Given the description of an element on the screen output the (x, y) to click on. 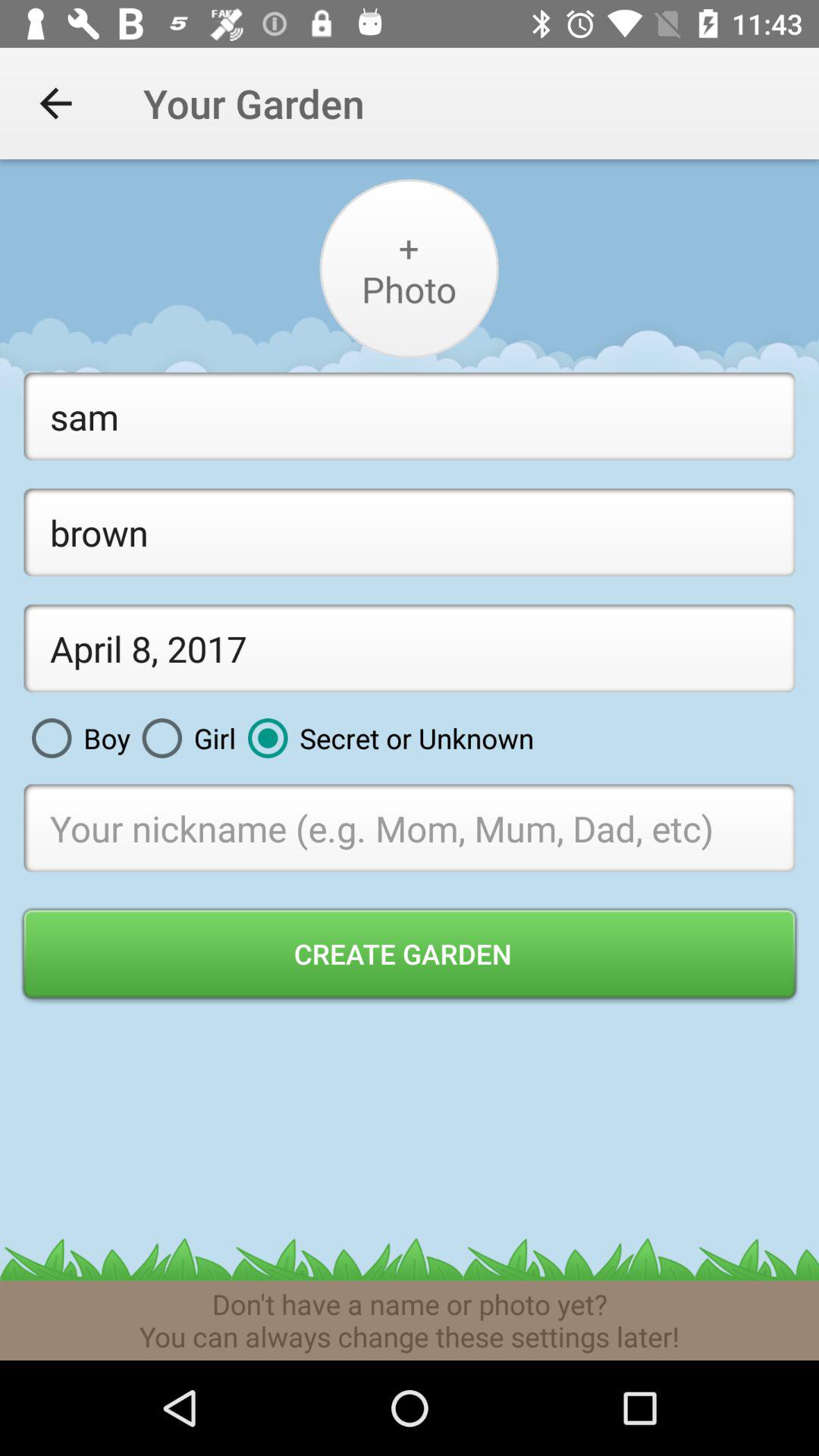
write nickname (409, 827)
